Given the description of an element on the screen output the (x, y) to click on. 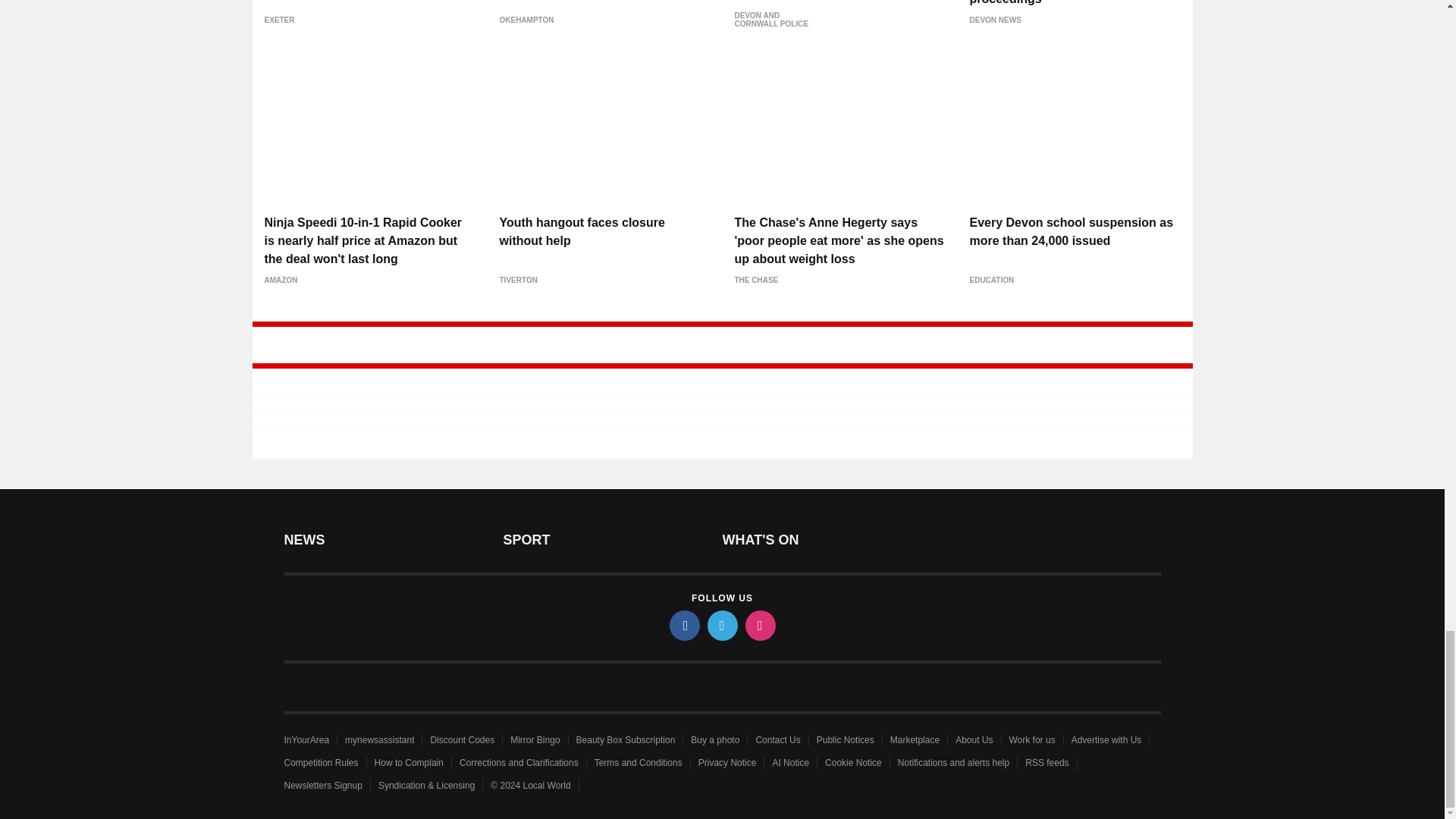
twitter (721, 625)
facebook (683, 625)
instagram (759, 625)
